Given the description of an element on the screen output the (x, y) to click on. 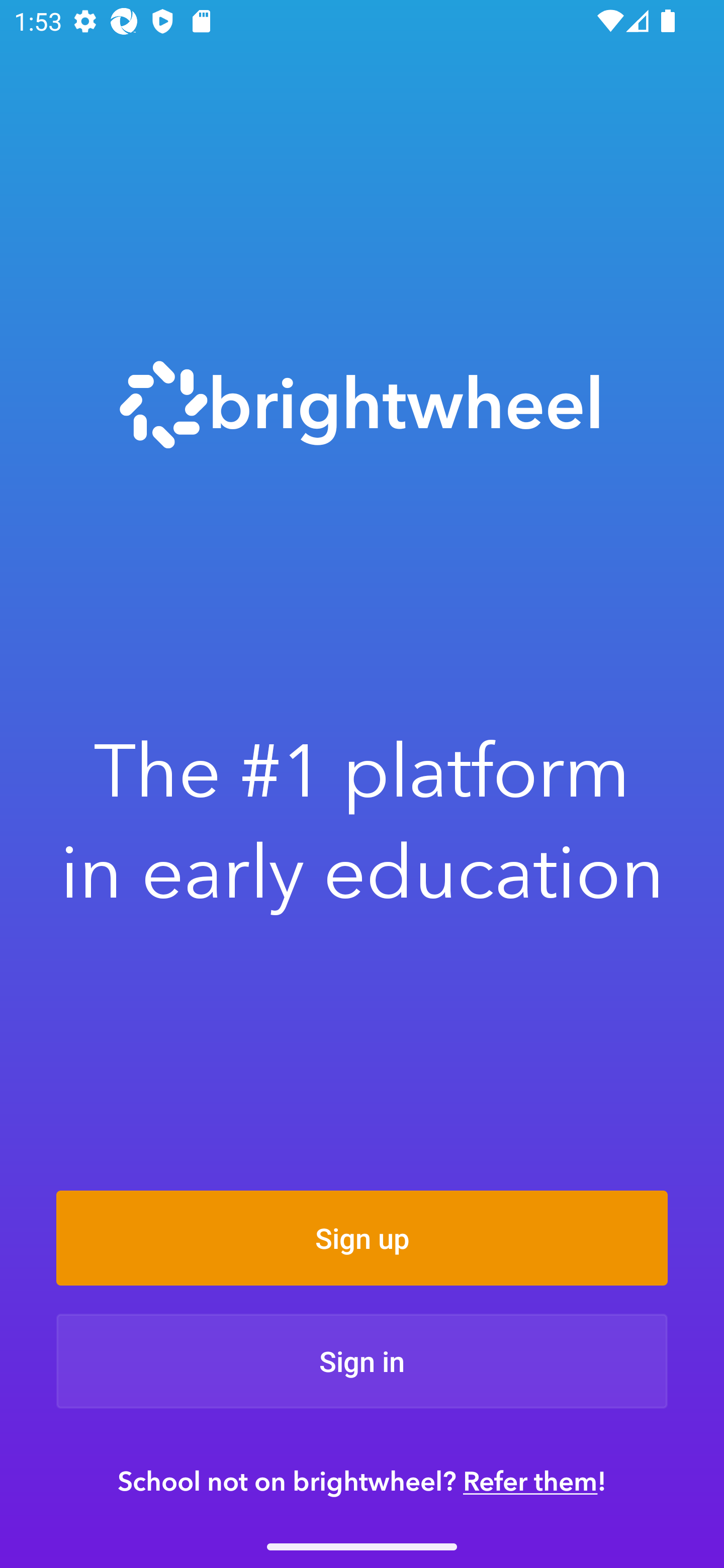
Sign up (361, 1237)
Sign in (361, 1360)
School not on brightwheel? Refer them! (361, 1480)
